Given the description of an element on the screen output the (x, y) to click on. 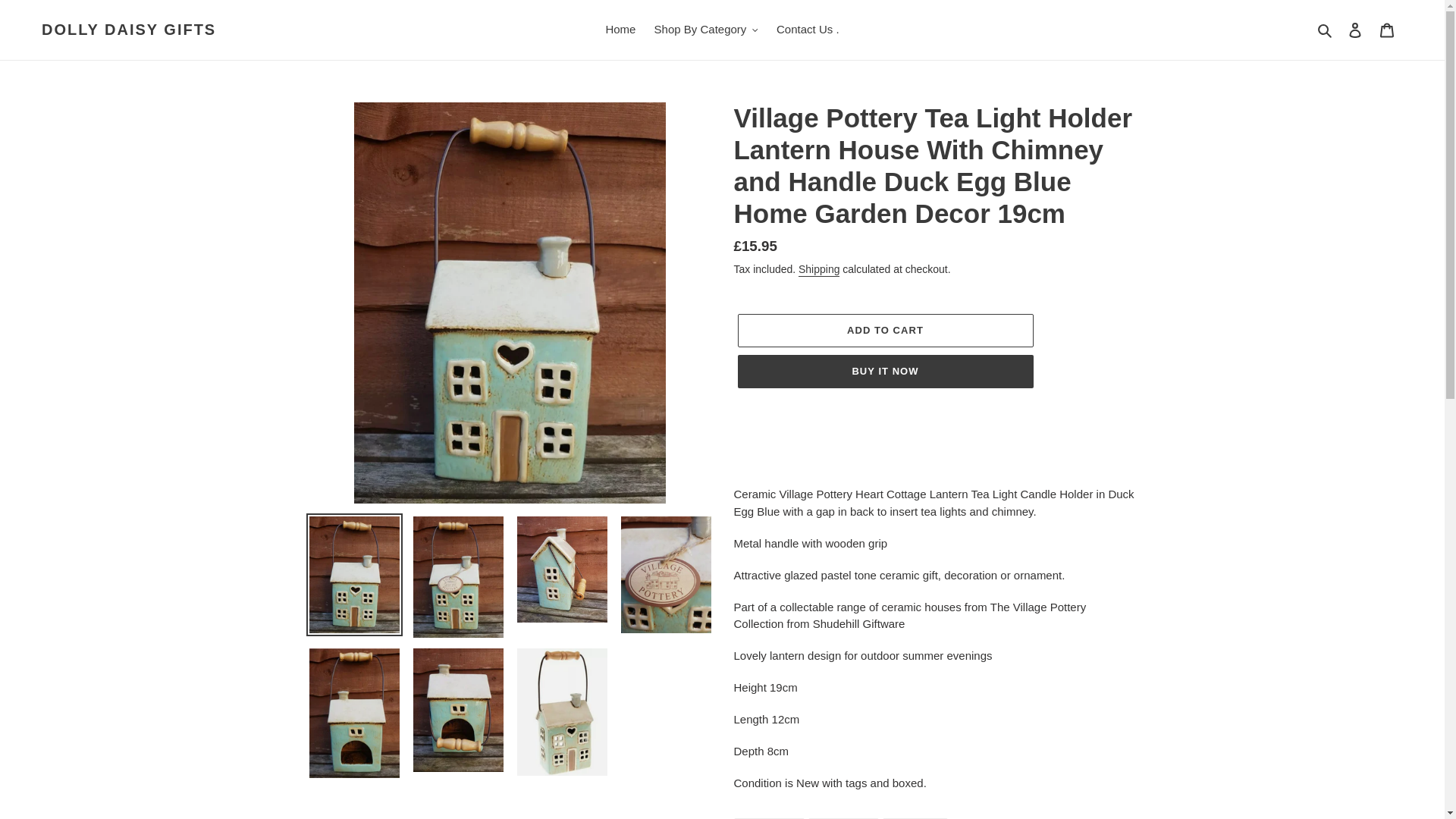
Home (619, 29)
DOLLY DAISY GIFTS (128, 29)
Contact Us . (807, 29)
Cart (1387, 29)
Search (1326, 29)
Log in (1355, 29)
Shop By Category (705, 29)
